Given the description of an element on the screen output the (x, y) to click on. 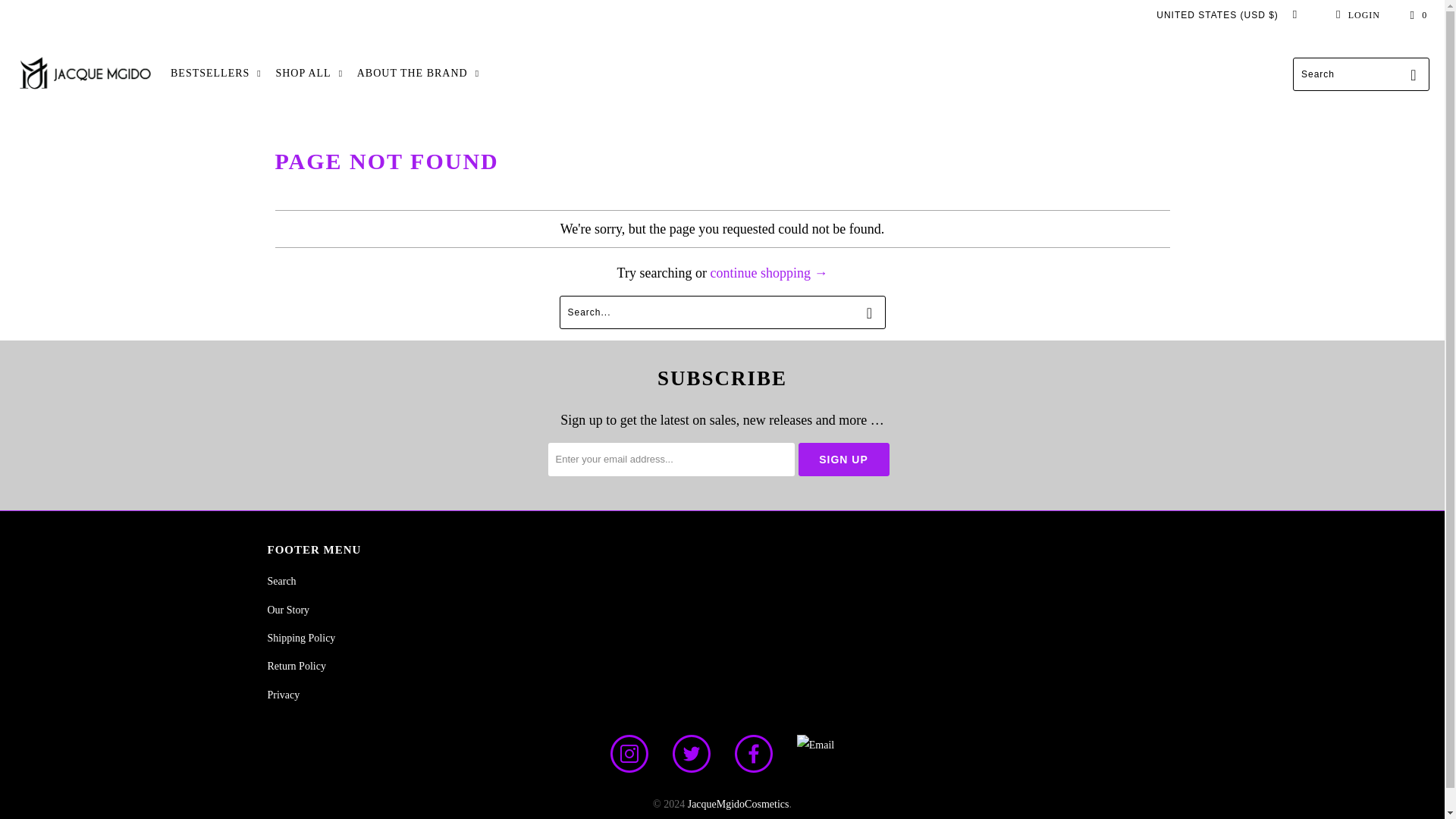
Sign Up (842, 459)
My Account  (1355, 15)
JacqueMgidoCosmetics (84, 73)
